Given the description of an element on the screen output the (x, y) to click on. 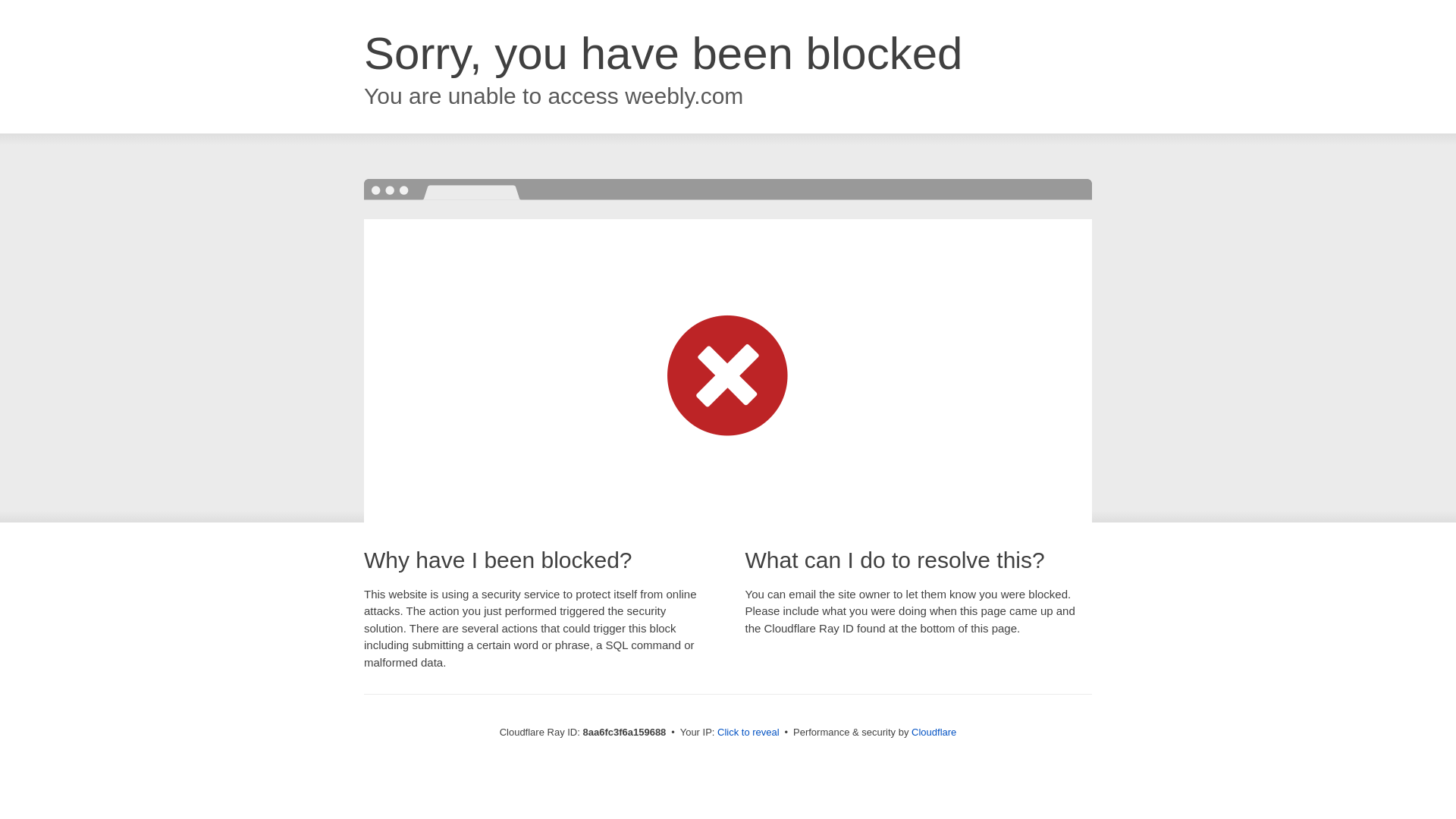
Click to reveal (747, 732)
Cloudflare (933, 731)
